Given the description of an element on the screen output the (x, y) to click on. 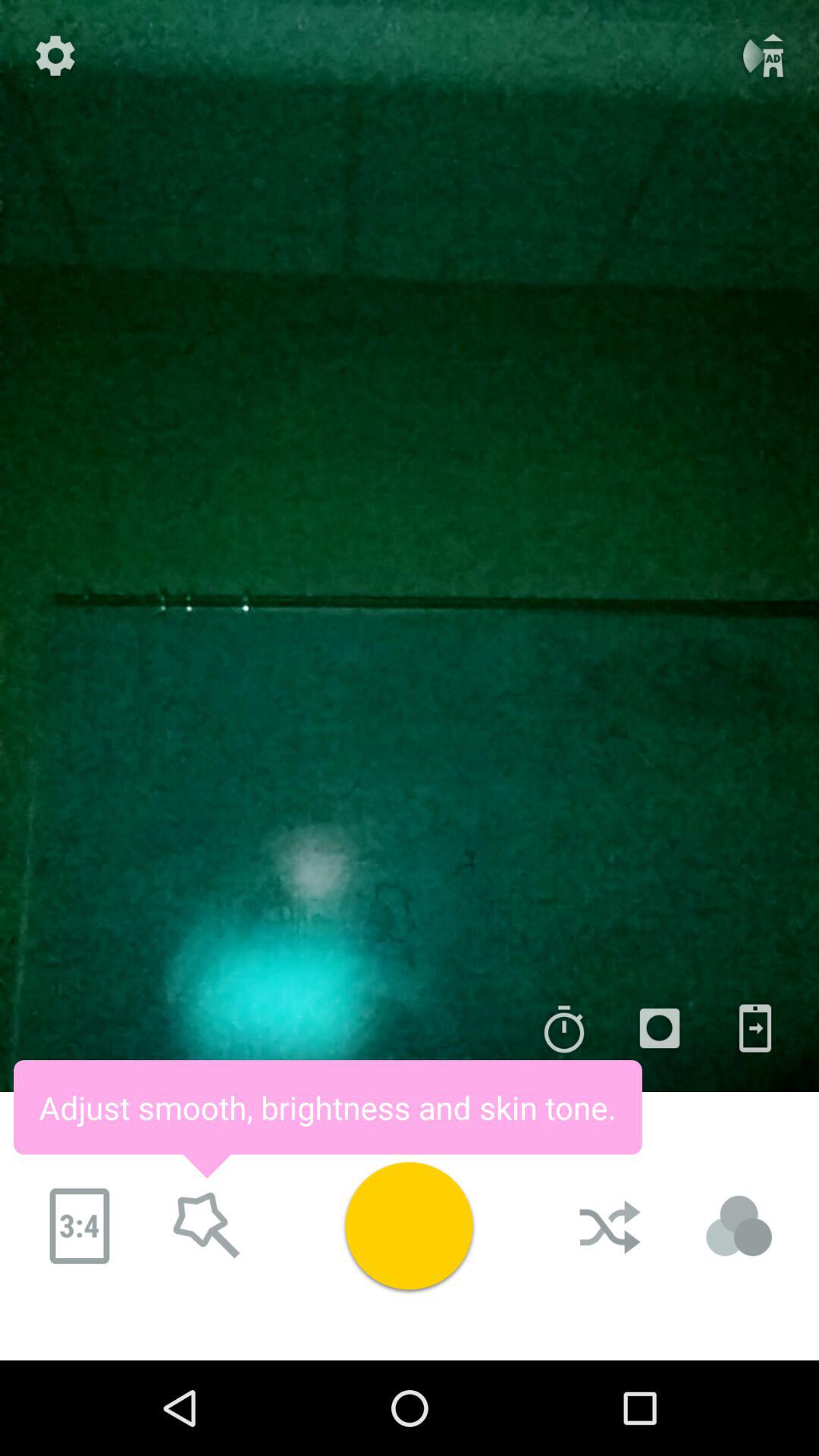
capture (408, 1225)
